Given the description of an element on the screen output the (x, y) to click on. 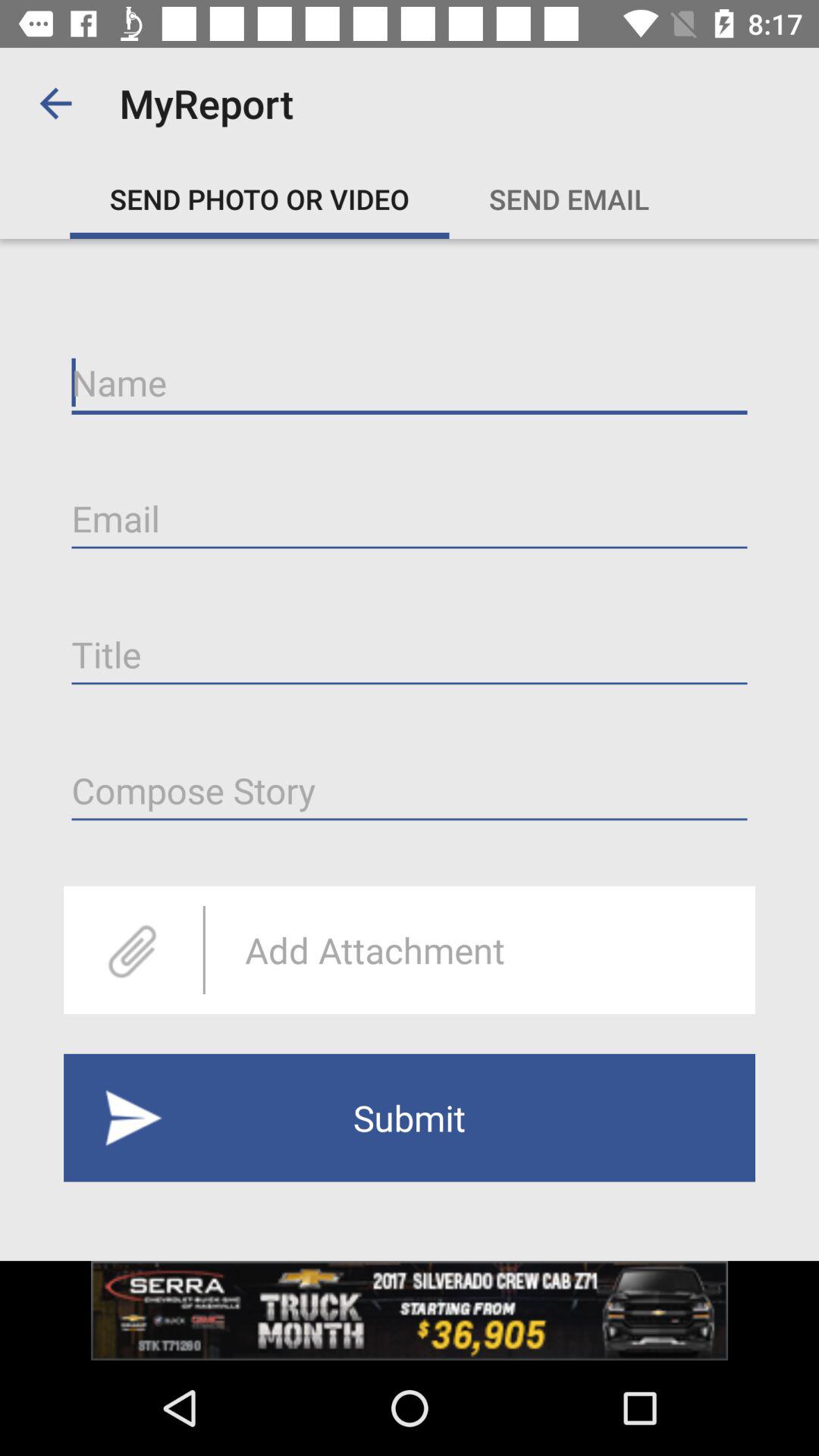
enter story text (409, 791)
